Given the description of an element on the screen output the (x, y) to click on. 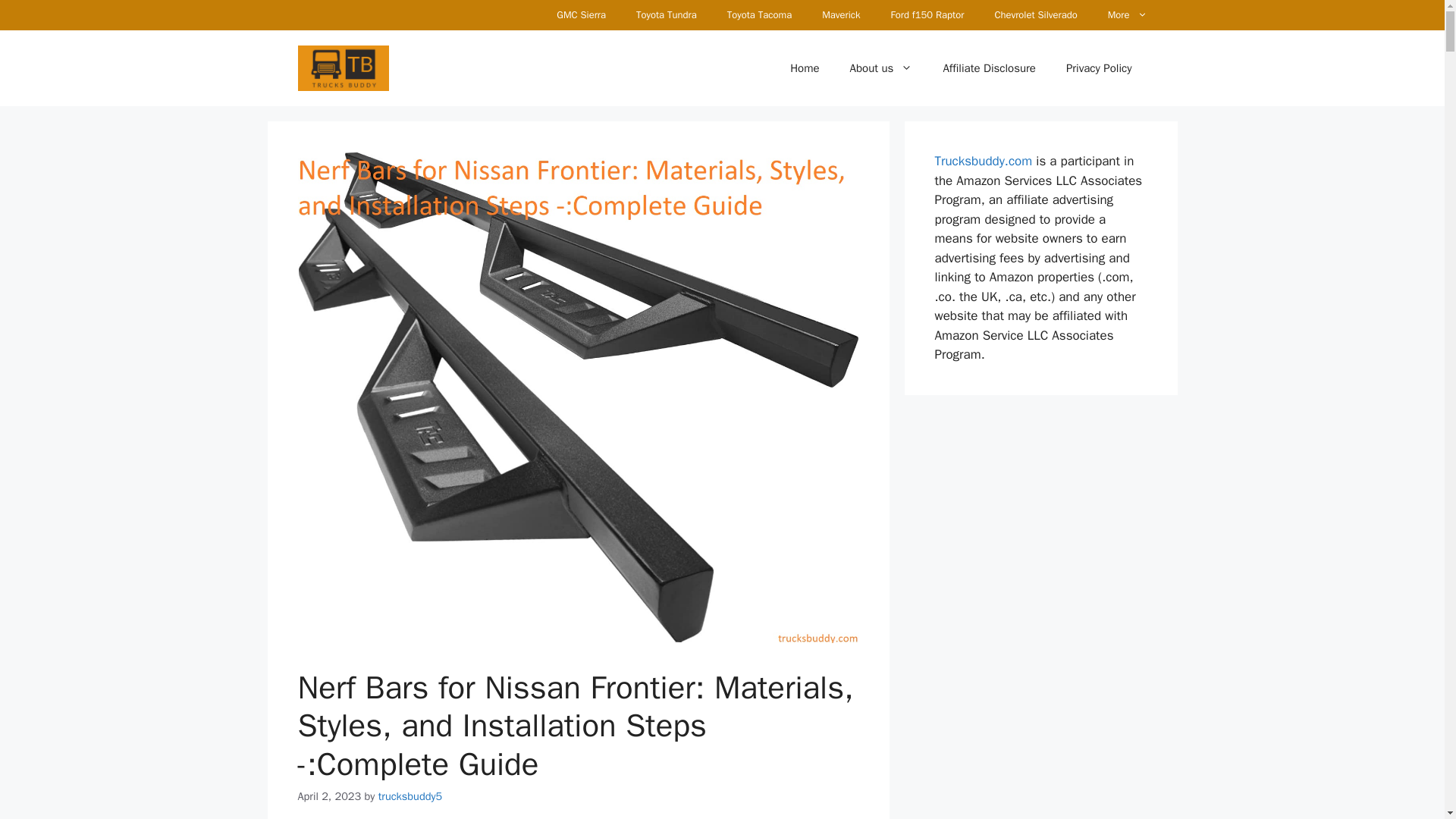
GMC Sierra (581, 15)
Chevrolet Silverado (1035, 15)
Trucksbuddy.com (983, 160)
About us (881, 67)
Affiliate Disclosure (989, 67)
More (1127, 15)
Ford f150 Raptor (927, 15)
Maverick (840, 15)
trucksbuddy5 (410, 796)
Privacy Policy (1099, 67)
